Given the description of an element on the screen output the (x, y) to click on. 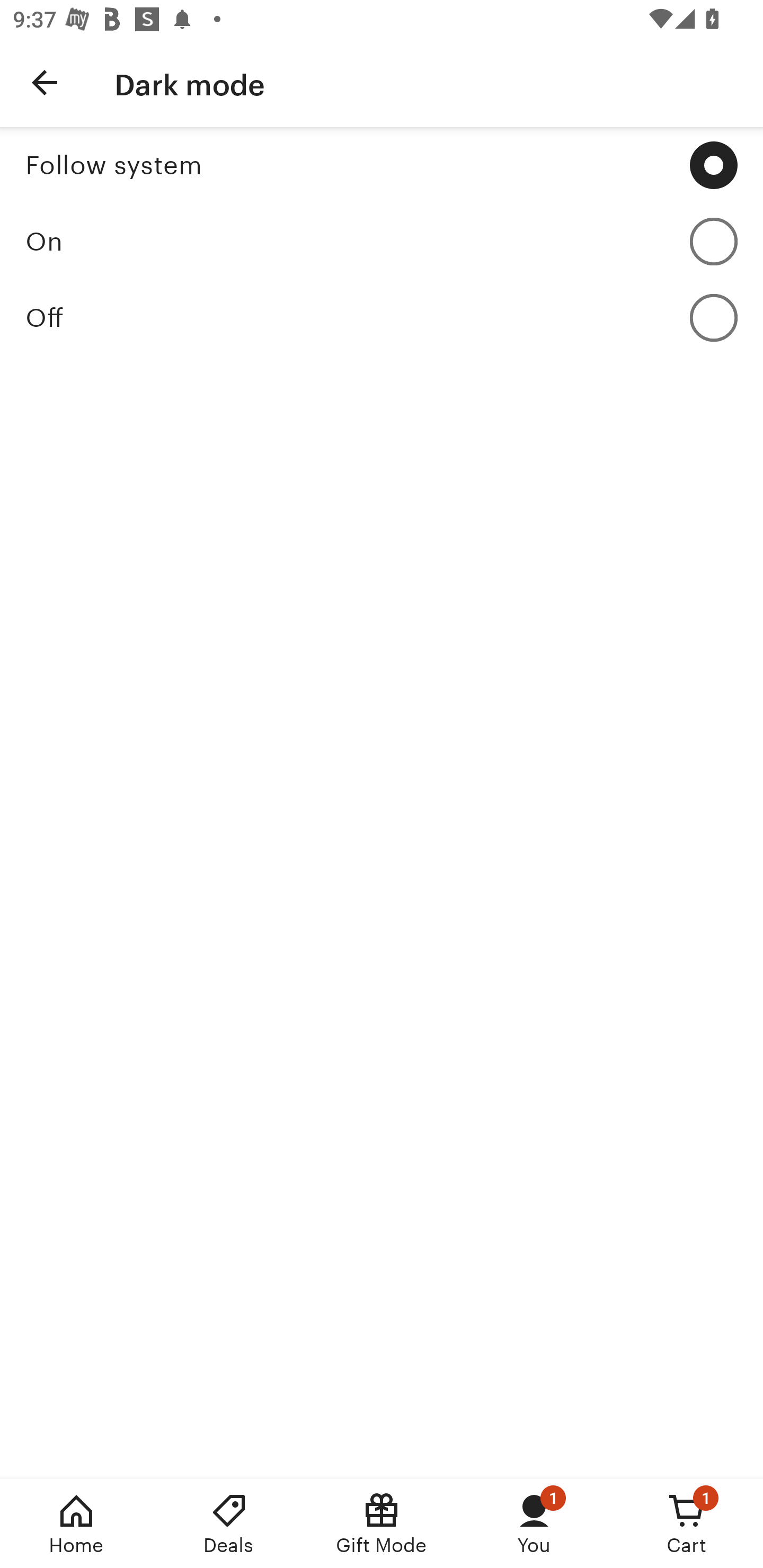
Navigate up (44, 82)
Follow system (381, 165)
On (381, 241)
Off (381, 317)
Home (76, 1523)
Deals (228, 1523)
Gift Mode (381, 1523)
Cart, 1 new notification Cart (686, 1523)
